Given the description of an element on the screen output the (x, y) to click on. 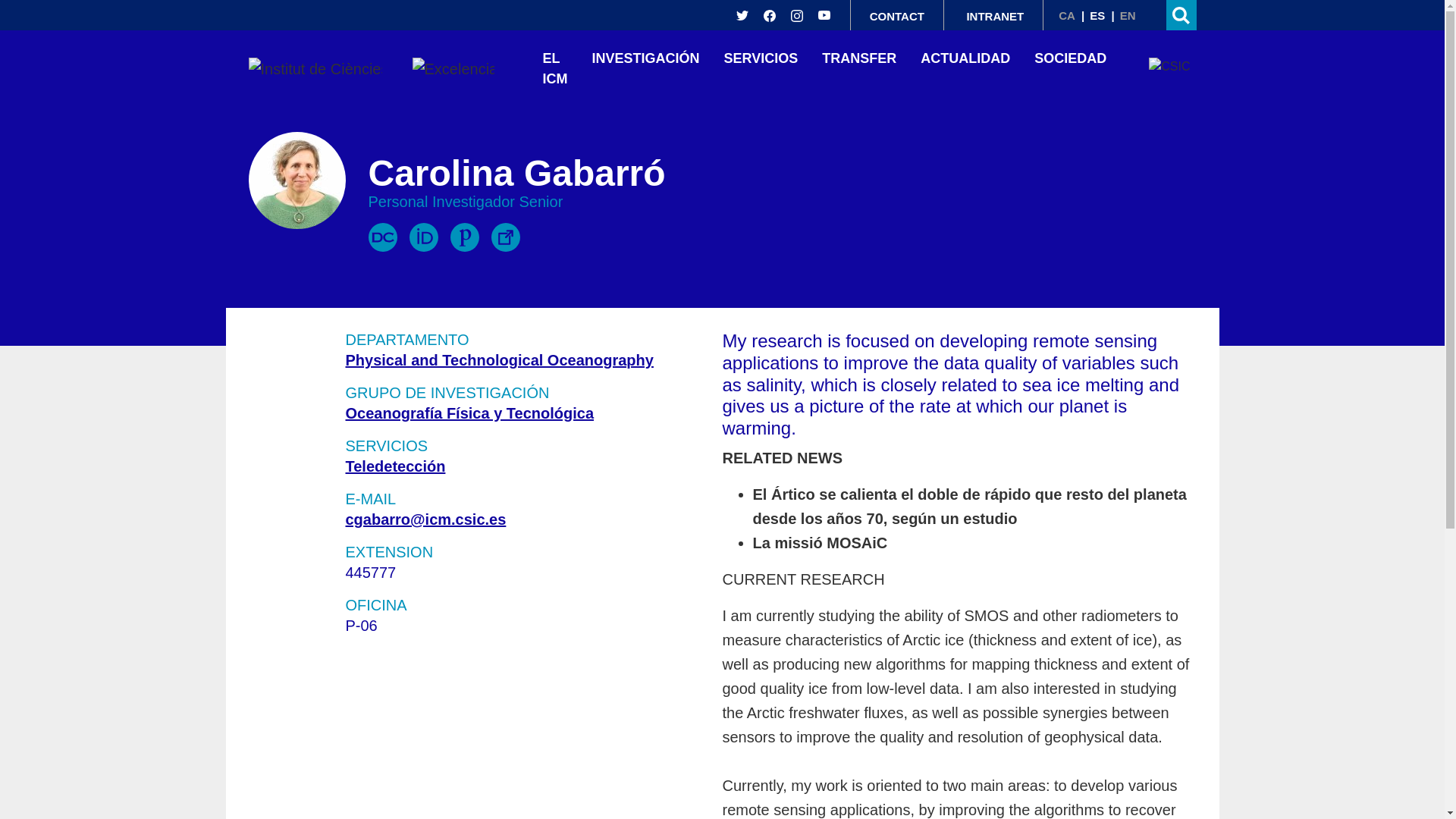
Orcid (423, 236)
Publons (464, 236)
EN (1127, 15)
CA (1066, 15)
ACTUALIDAD (965, 61)
Digital CSIC (382, 236)
SOCIEDAD (1069, 61)
ES (1097, 15)
SERVICIOS (760, 61)
